Given the description of an element on the screen output the (x, y) to click on. 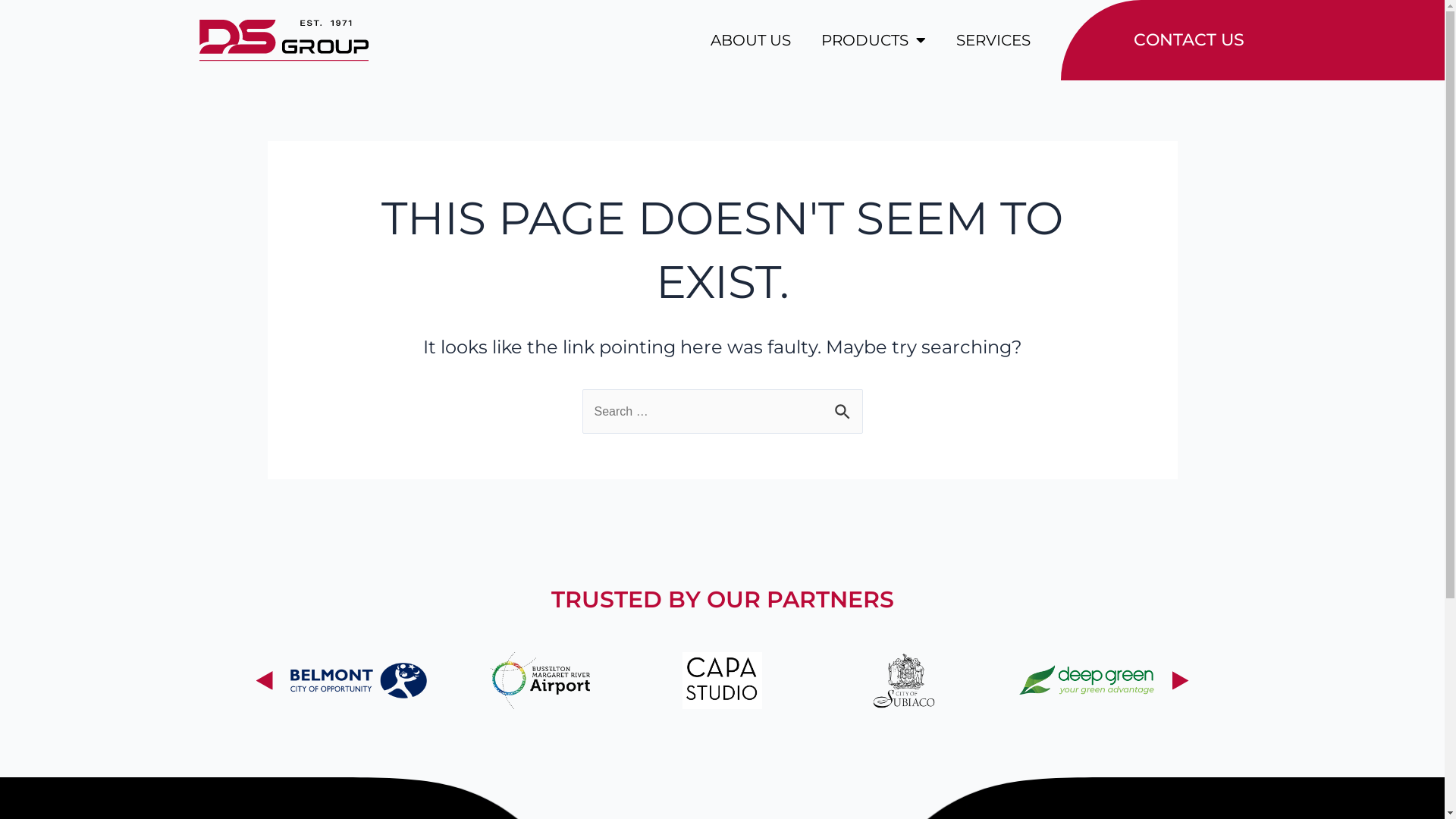
ABOUT US Element type: text (749, 39)
PRODUCTS Element type: text (872, 39)
Search Element type: text (845, 408)
CONTACT US Element type: text (1152, 40)
SERVICES Element type: text (992, 39)
